Given the description of an element on the screen output the (x, y) to click on. 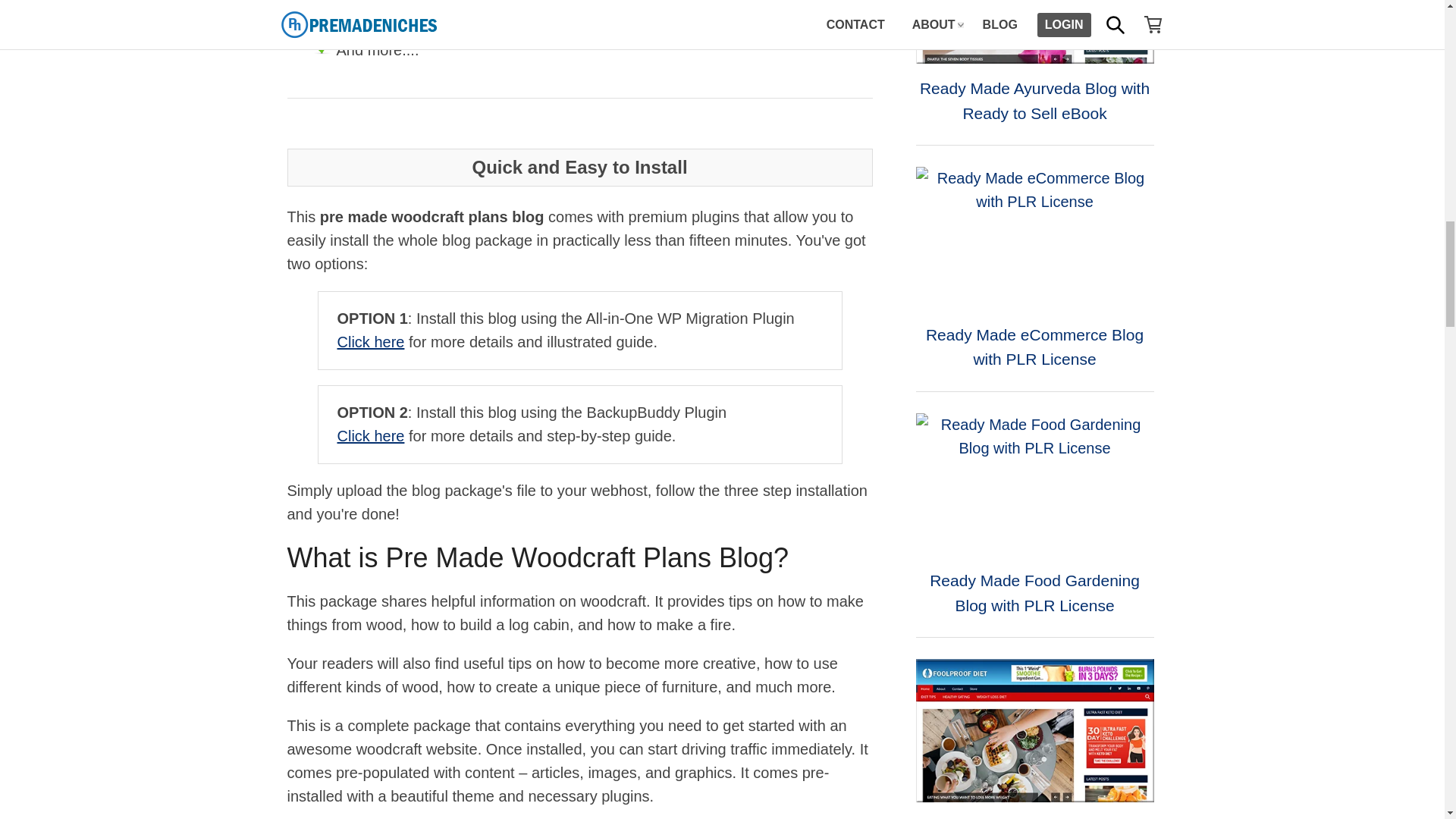
Ready Made Ayurveda Blog with Ready to Sell eBook (1034, 31)
